Given the description of an element on the screen output the (x, y) to click on. 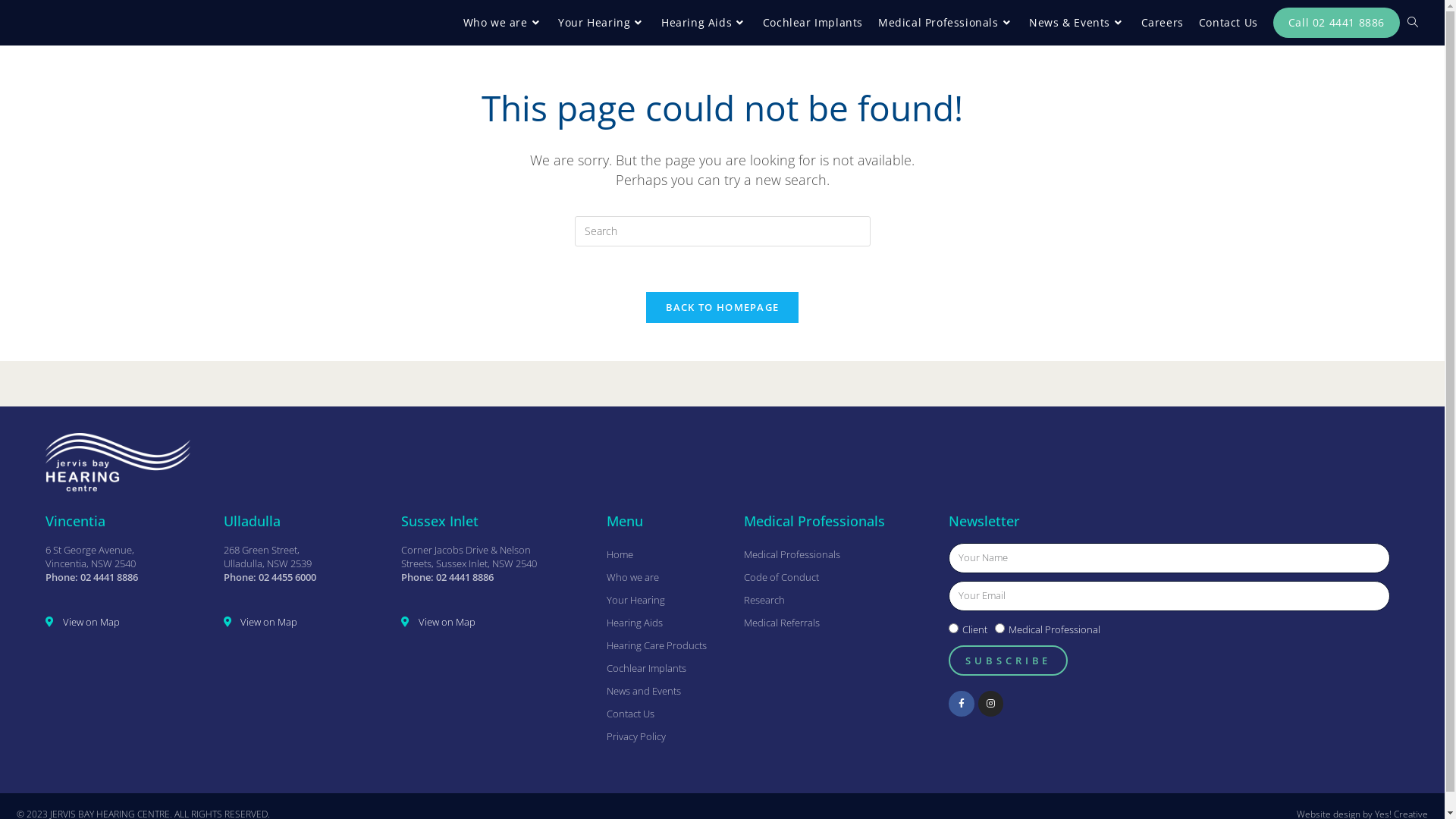
Your Hearing Element type: text (601, 22)
Who we are Element type: text (667, 576)
Hearing Care Products Element type: text (667, 644)
BACK TO HOMEPAGE Element type: text (722, 307)
Cochlear Implants Element type: text (812, 22)
Hearing Aids Element type: text (704, 22)
Research Element type: text (838, 599)
Hearing Aids Element type: text (667, 622)
Medical Professionals Element type: text (838, 553)
Who we are Element type: text (503, 22)
Code of Conduct Element type: text (838, 576)
Call 02 4441 8886 Element type: text (1336, 22)
Your Hearing Element type: text (667, 599)
News and Events Element type: text (667, 690)
News & Events Element type: text (1076, 22)
Contact Us Element type: text (1228, 22)
Medical Professionals Element type: text (945, 22)
View on Map Element type: text (304, 621)
Careers Element type: text (1162, 22)
View on Map Element type: text (126, 621)
Medical Referrals Element type: text (838, 622)
Privacy Policy Element type: text (667, 735)
Cochlear Implants Element type: text (667, 667)
Home Element type: text (667, 553)
Contact Us Element type: text (667, 713)
SUBSCRIBE Element type: text (1007, 660)
View on Map Element type: text (496, 621)
